Given the description of an element on the screen output the (x, y) to click on. 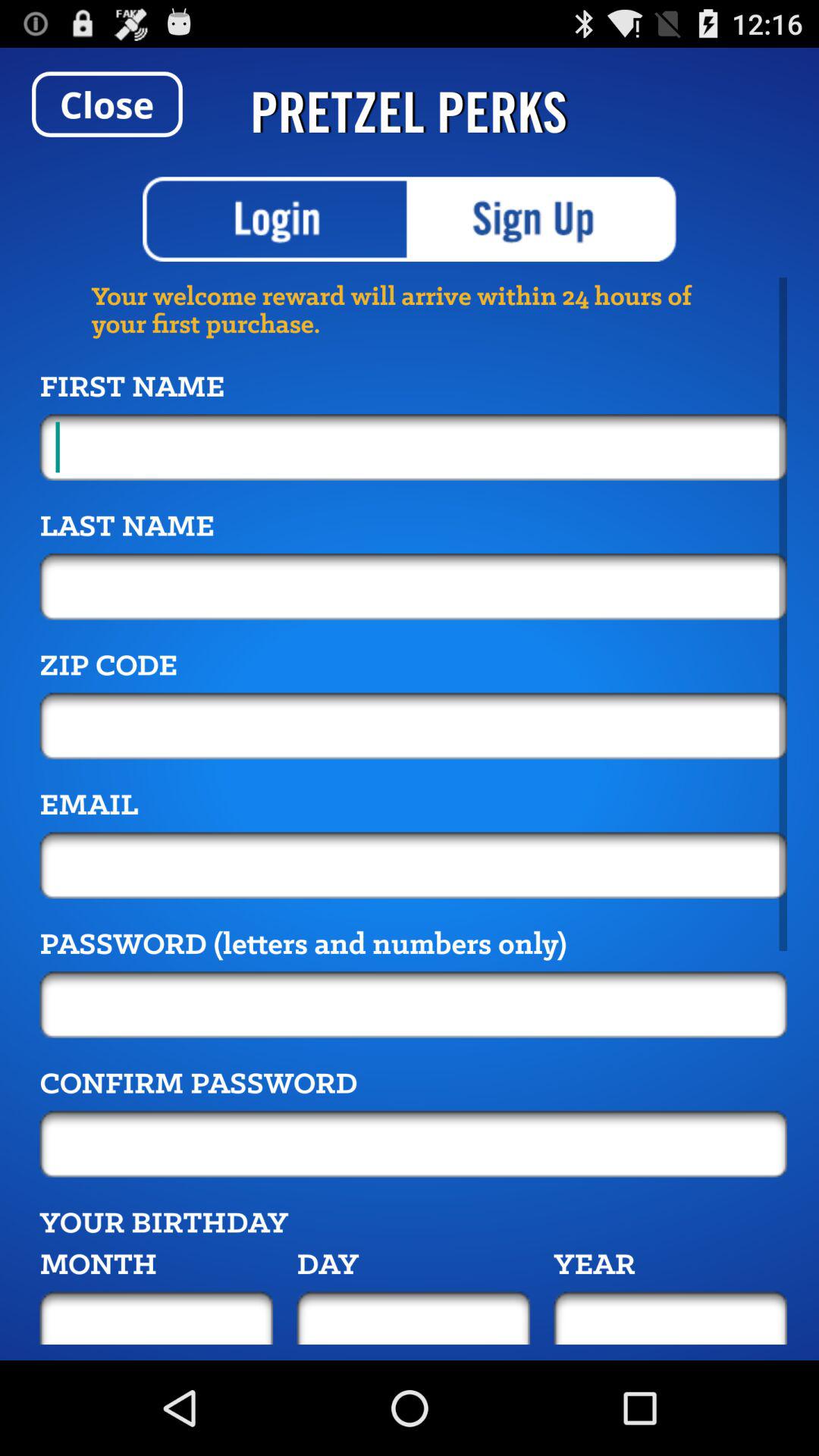
enter last name (413, 586)
